Given the description of an element on the screen output the (x, y) to click on. 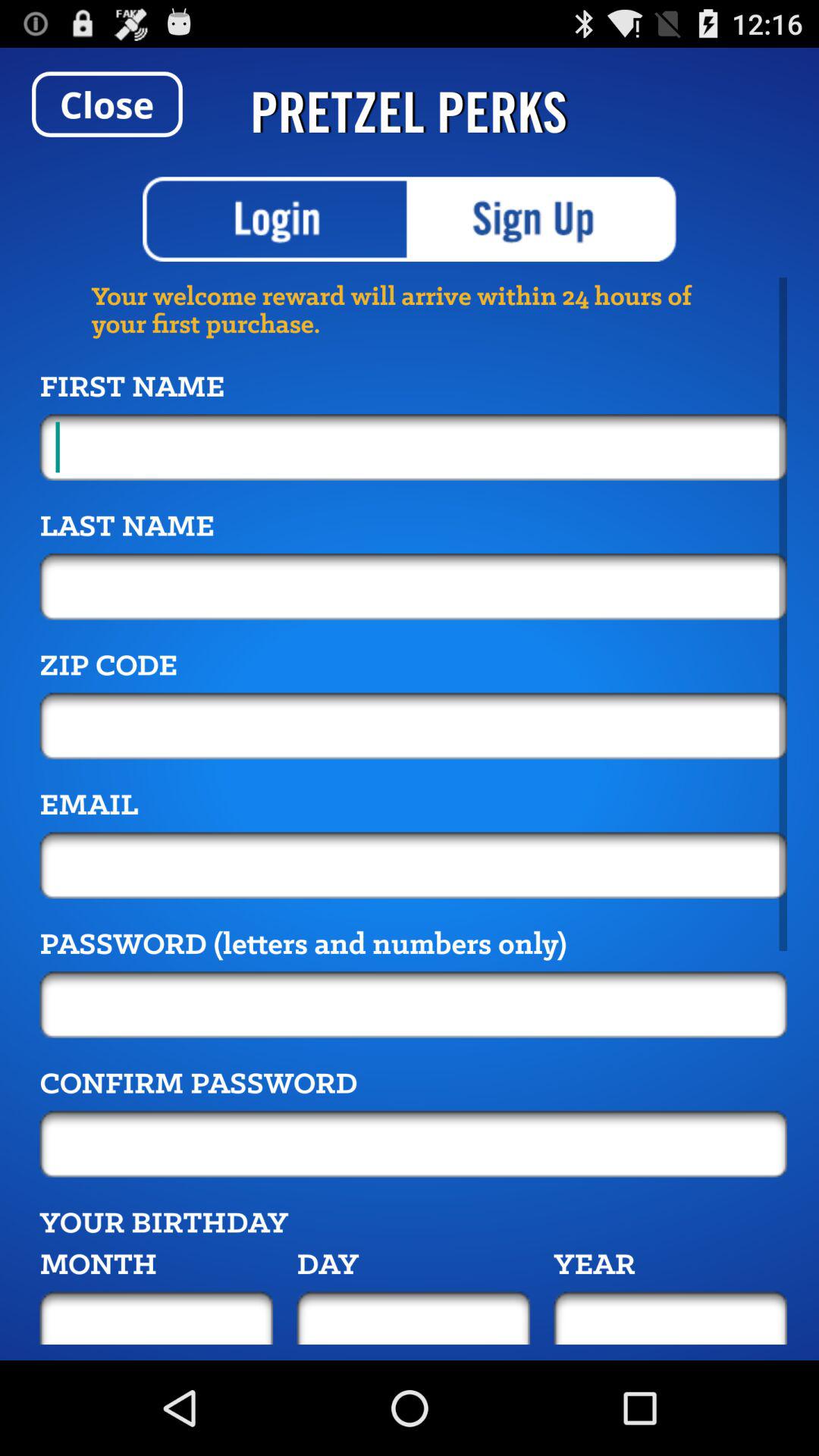
enter last name (413, 586)
